Given the description of an element on the screen output the (x, y) to click on. 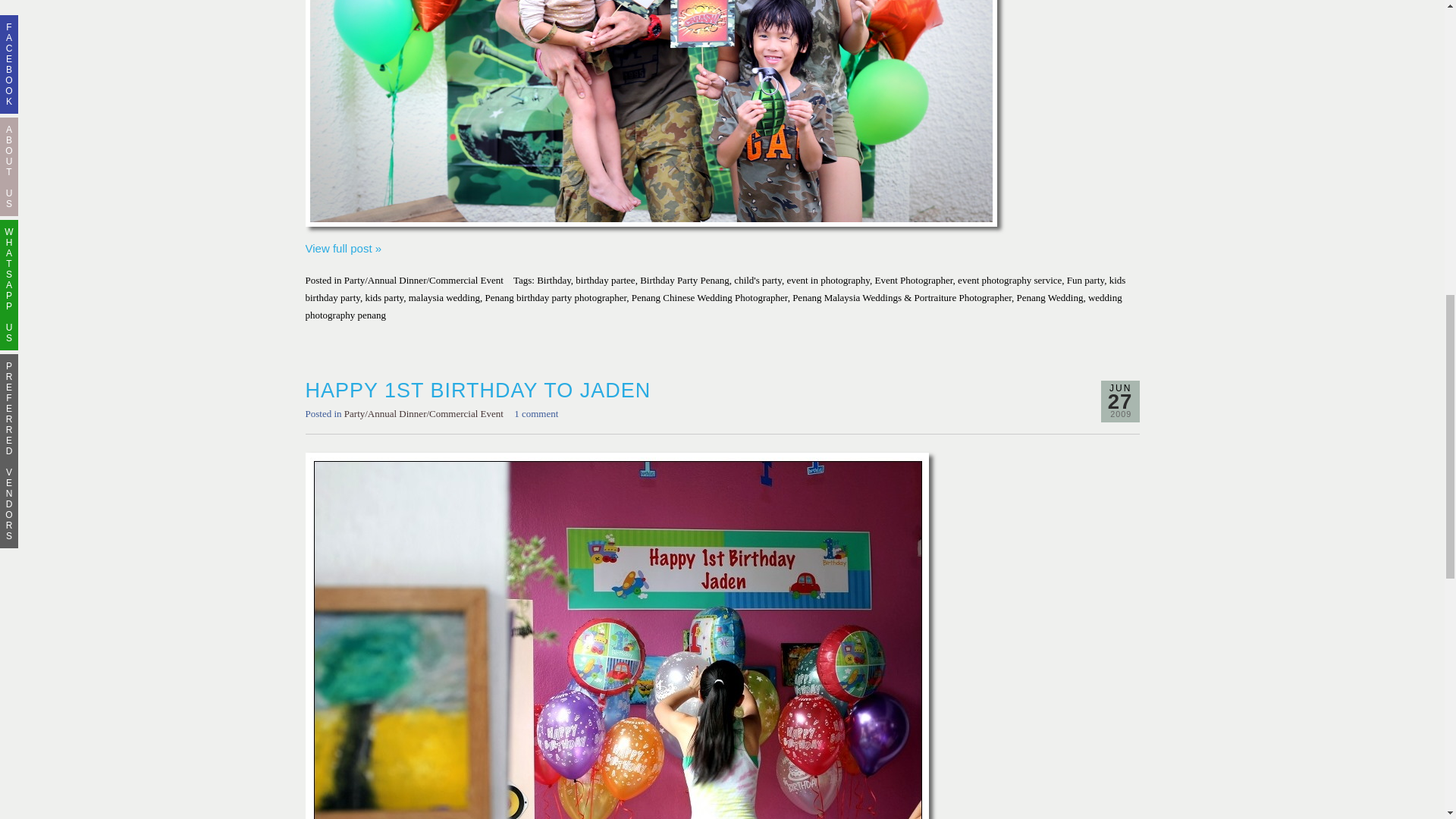
Birthday Party Penang (684, 279)
Birthday (553, 279)
birthday partee (604, 279)
child's party (757, 279)
event in photography (827, 279)
kids party (384, 297)
Event Photographer (914, 279)
kids birthday party (714, 288)
Jaden 6th birthday (342, 247)
event photography service (1009, 279)
